Given the description of an element on the screen output the (x, y) to click on. 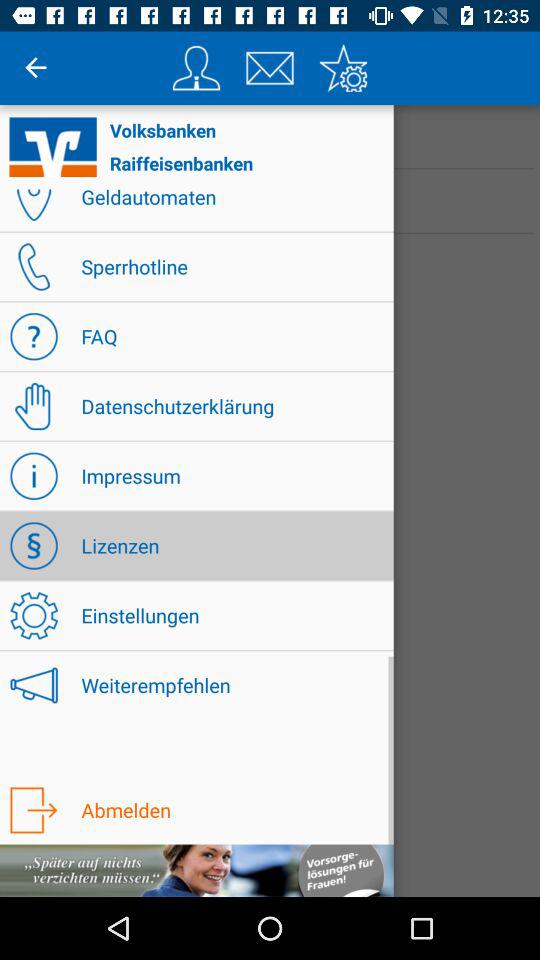
click on the first image from the top (195, 68)
select the second icon from the top left (269, 68)
